Given the description of an element on the screen output the (x, y) to click on. 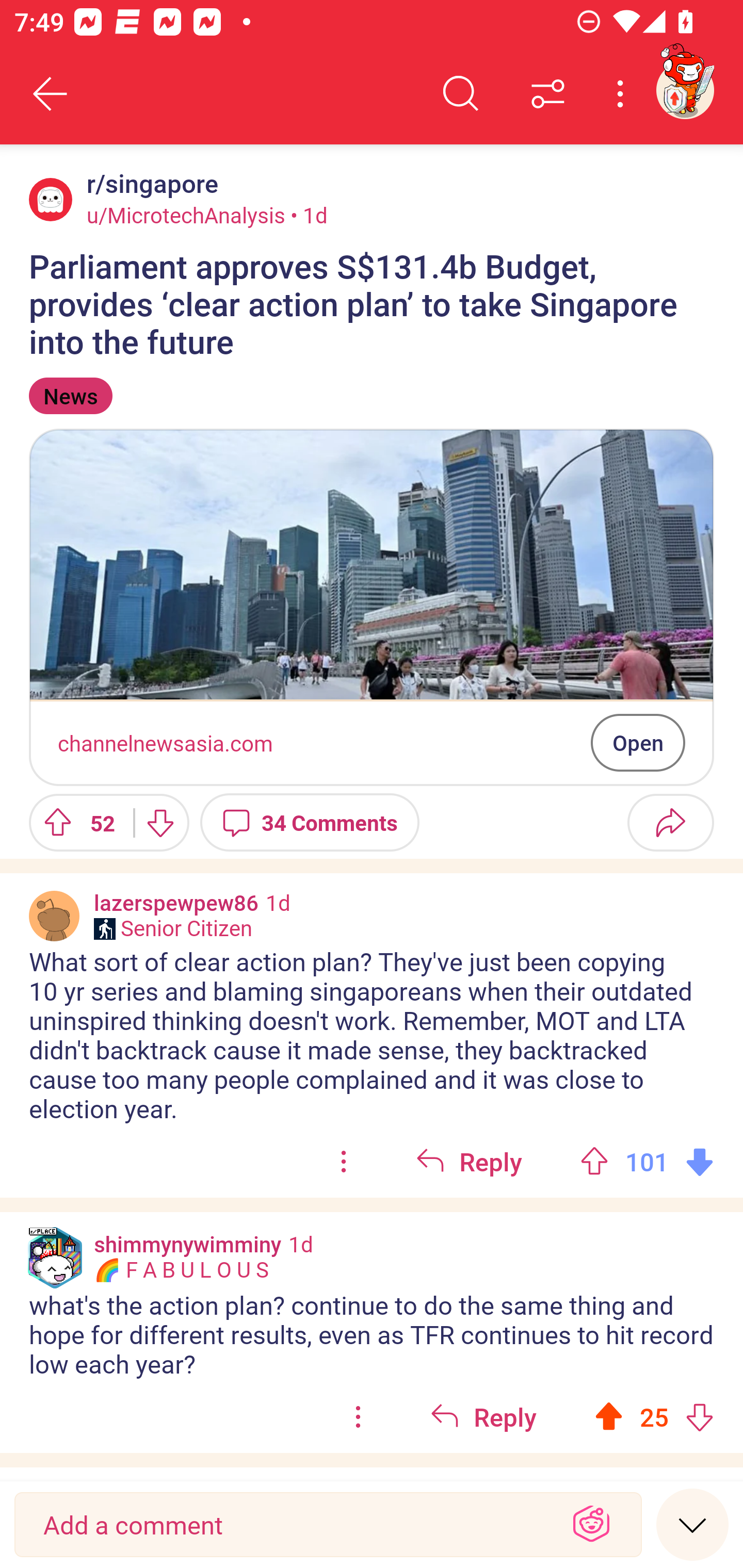
Back (50, 93)
TestAppium002 account (685, 90)
Search comments (460, 93)
Sort comments (547, 93)
More options (623, 93)
r/singapore (148, 183)
Avatar (50, 199)
News (70, 395)
Preview Image channelnewsasia.com Open (371, 606)
Open (637, 742)
Upvote 52 (73, 822)
Downvote (158, 822)
34 Comments (309, 822)
Share (670, 822)
Avatar (53, 915)
￼ Senior Citizen (172, 927)
options (343, 1161)
Reply (469, 1161)
Upvote 101 101 votes Downvote (647, 1161)
🌈 F A B U L O U S (180, 1269)
options (358, 1417)
Reply (483, 1417)
Upvote 25 25 votes Downvote (654, 1417)
Speed read (692, 1524)
Add a comment (291, 1524)
Show Expressions (590, 1524)
